Given the description of an element on the screen output the (x, y) to click on. 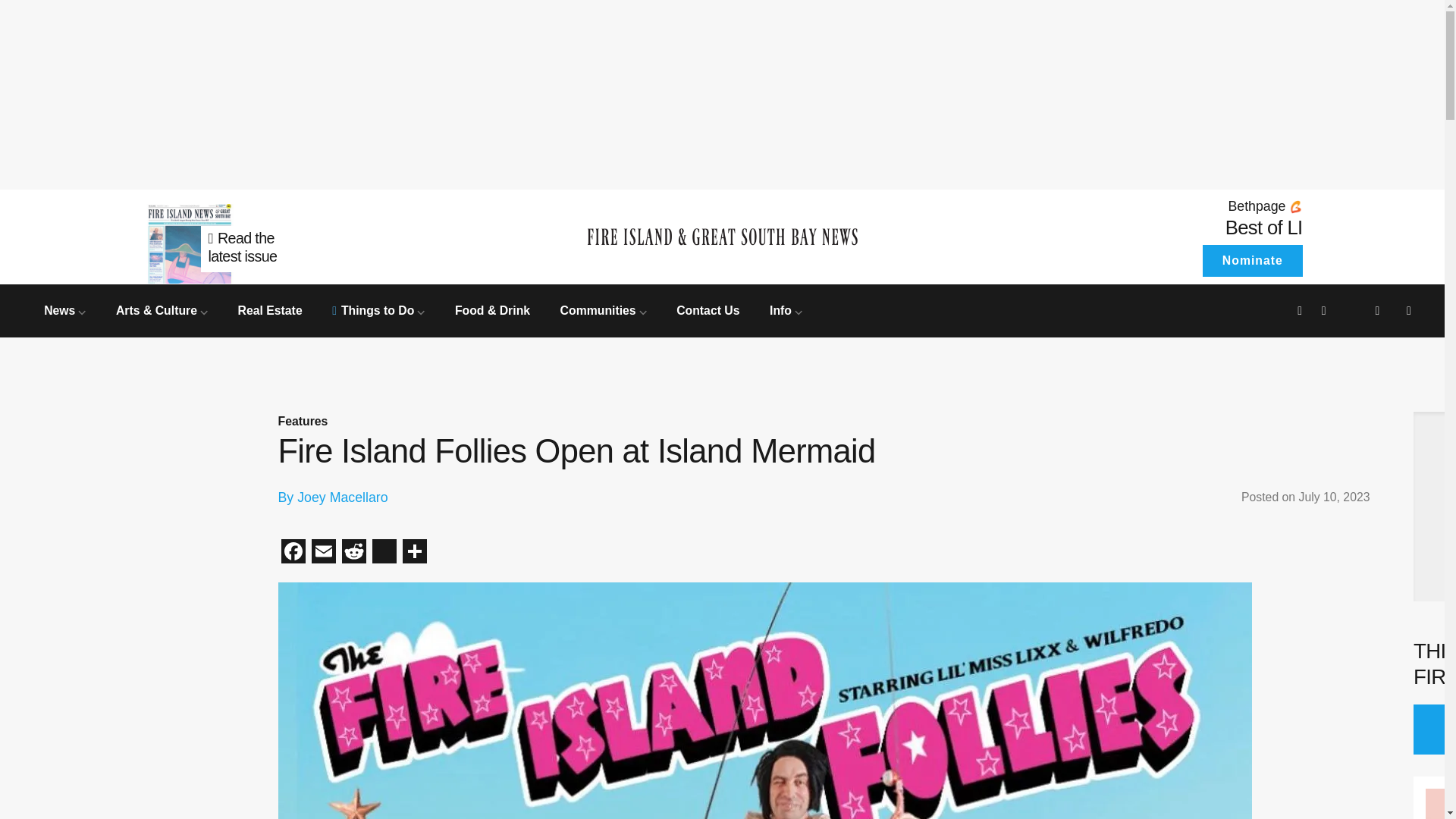
Email (322, 552)
Things to Do (378, 309)
Presented by Bethpage Federal Credit Union (1166, 206)
Reddit (352, 552)
Contact Us (708, 309)
Communities (603, 309)
Facebook (292, 552)
Real Estate (270, 309)
Info (278, 236)
Nominate (786, 309)
Best of LI (1251, 260)
X (1264, 227)
News (383, 552)
